Given the description of an element on the screen output the (x, y) to click on. 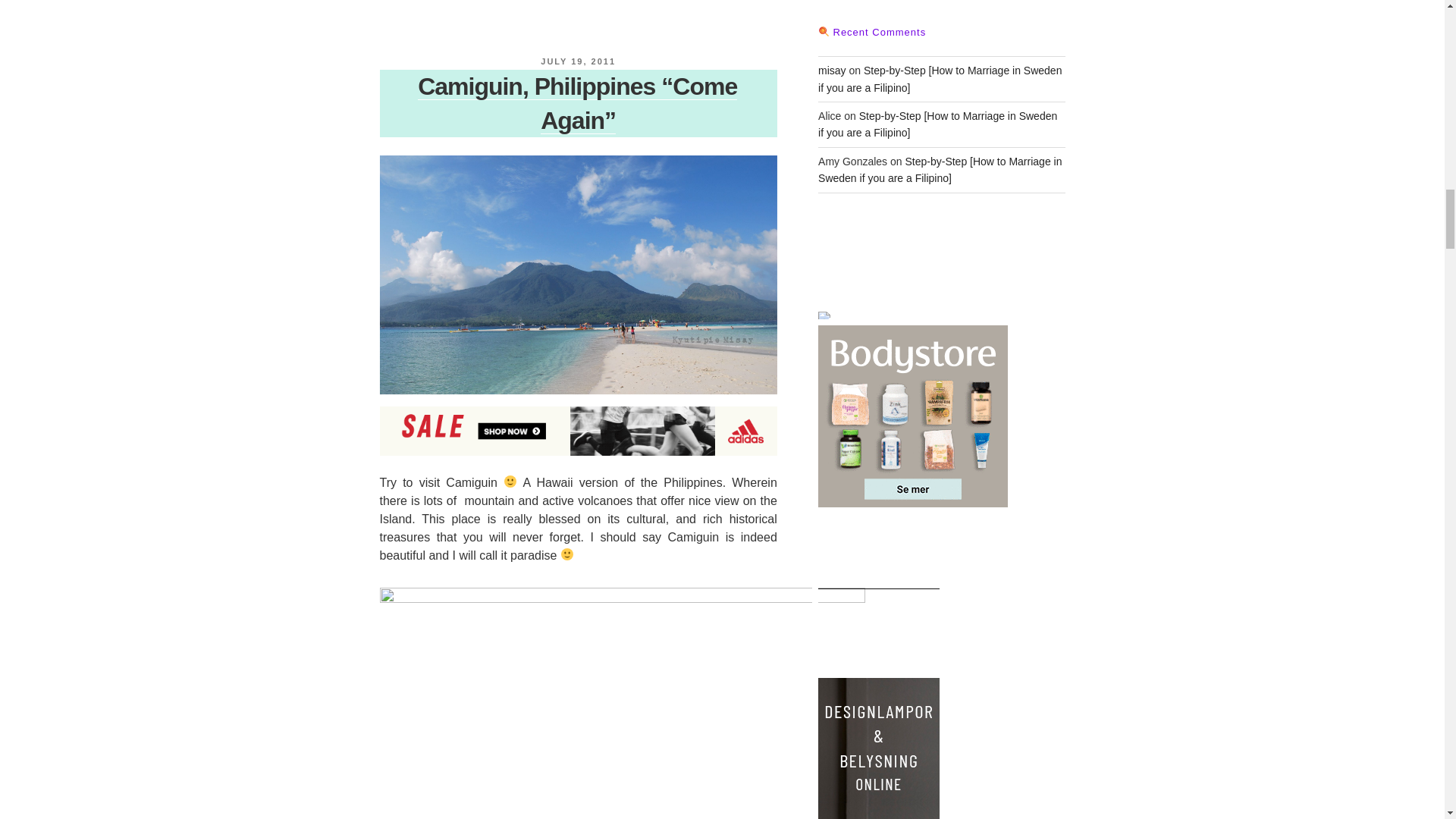
JULY 19, 2011 (577, 61)
